Given the description of an element on the screen output the (x, y) to click on. 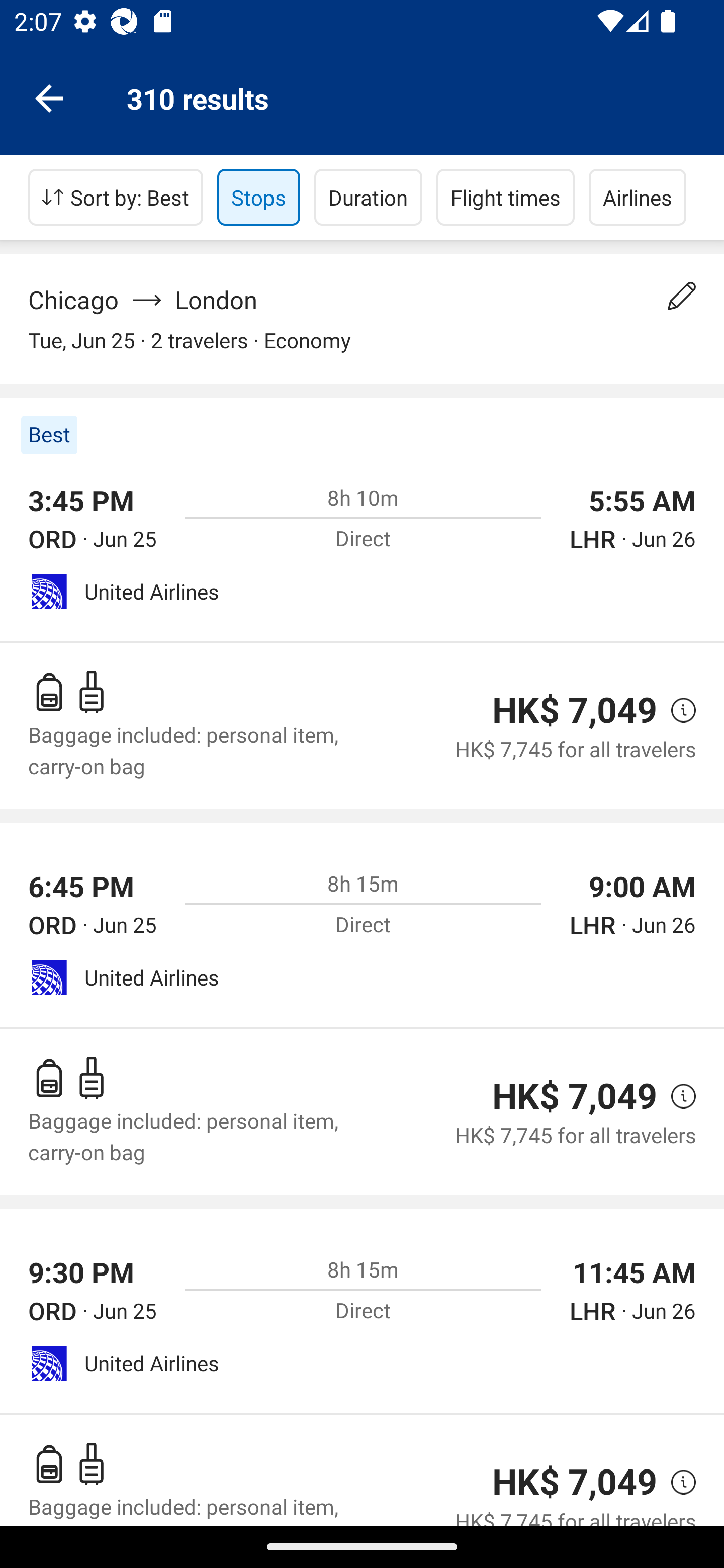
Navigate up (49, 97)
Sort by: Best (115, 197)
Stops (258, 197)
Duration (368, 197)
Flight times (505, 197)
Airlines (637, 197)
Change your search details (681, 296)
HK$ 7,049 (574, 710)
view price details, opens a pop-up (676, 709)
HK$ 7,049 (574, 1095)
view price details, opens a pop-up (676, 1095)
HK$ 7,049 (574, 1481)
view price details, opens a pop-up (676, 1482)
